Given the description of an element on the screen output the (x, y) to click on. 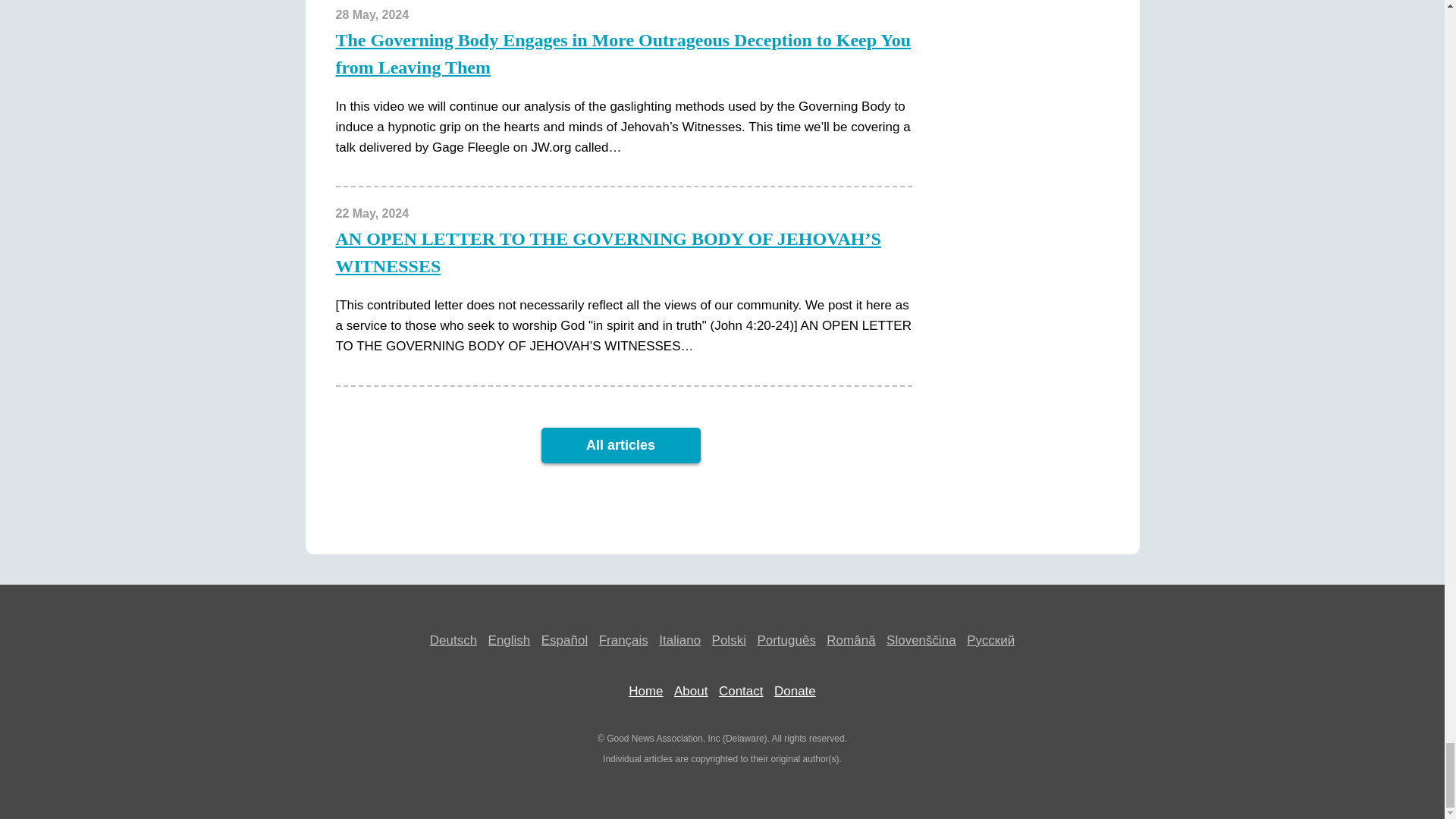
All articles (620, 445)
Home (645, 690)
Donate (794, 690)
Contact (740, 690)
Tuesday, May 28, 2024 (371, 14)
Polski (728, 640)
Deutsch (453, 640)
Italiano (679, 640)
About (690, 690)
English (509, 640)
Wednesday, May 22, 2024 (371, 213)
